Given the description of an element on the screen output the (x, y) to click on. 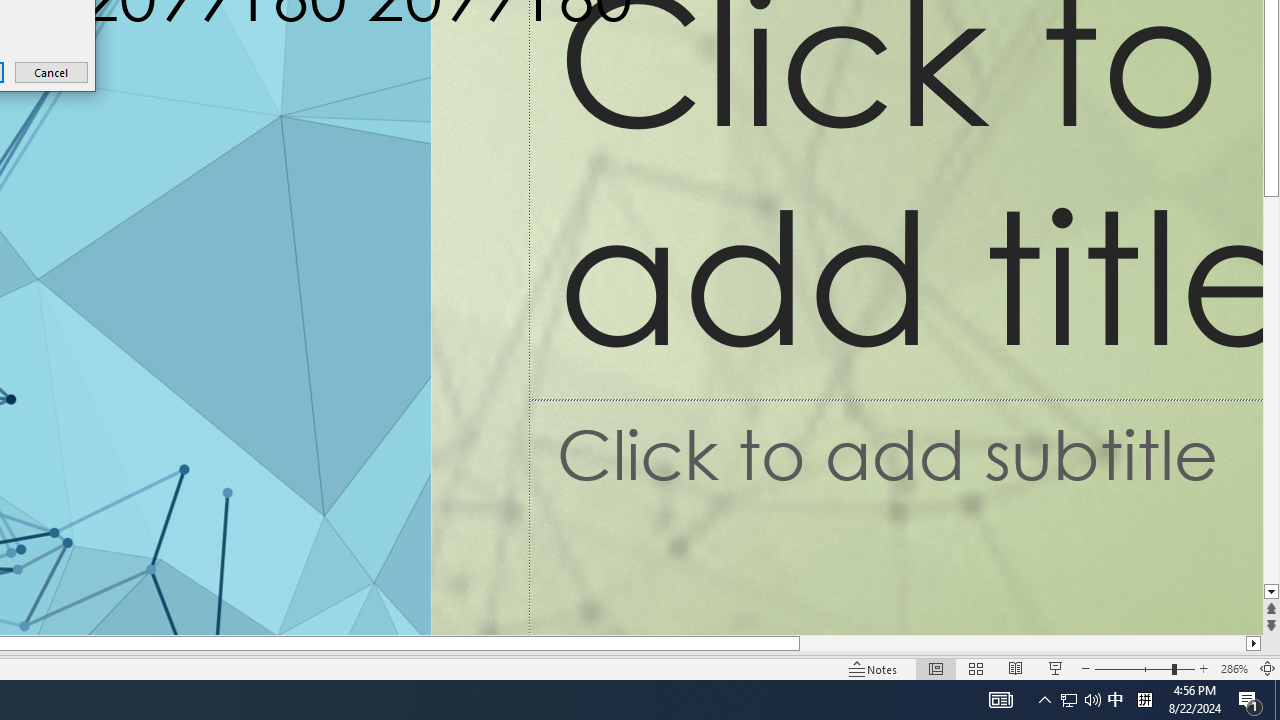
Zoom 286% (1115, 699)
